Given the description of an element on the screen output the (x, y) to click on. 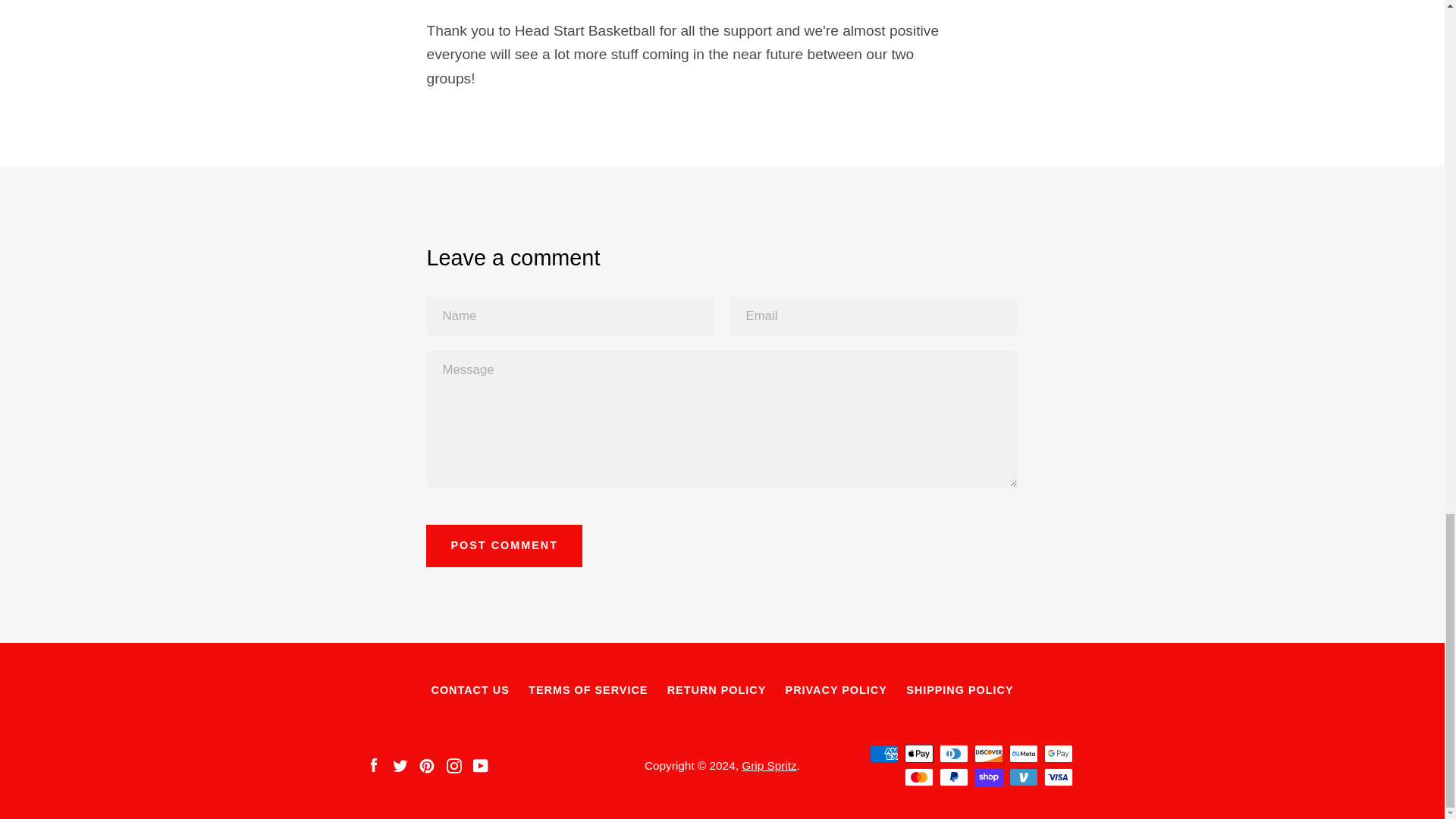
Diners Club (953, 753)
Grip Spritz on Twitter (400, 764)
SHIPPING POLICY (959, 689)
Google Pay (1057, 753)
CONTACT US (469, 689)
Facebook (372, 764)
PRIVACY POLICY (836, 689)
American Express (883, 753)
Grip Spritz on Instagram (453, 764)
Grip Spritz on Pinterest (426, 764)
